Given the description of an element on the screen output the (x, y) to click on. 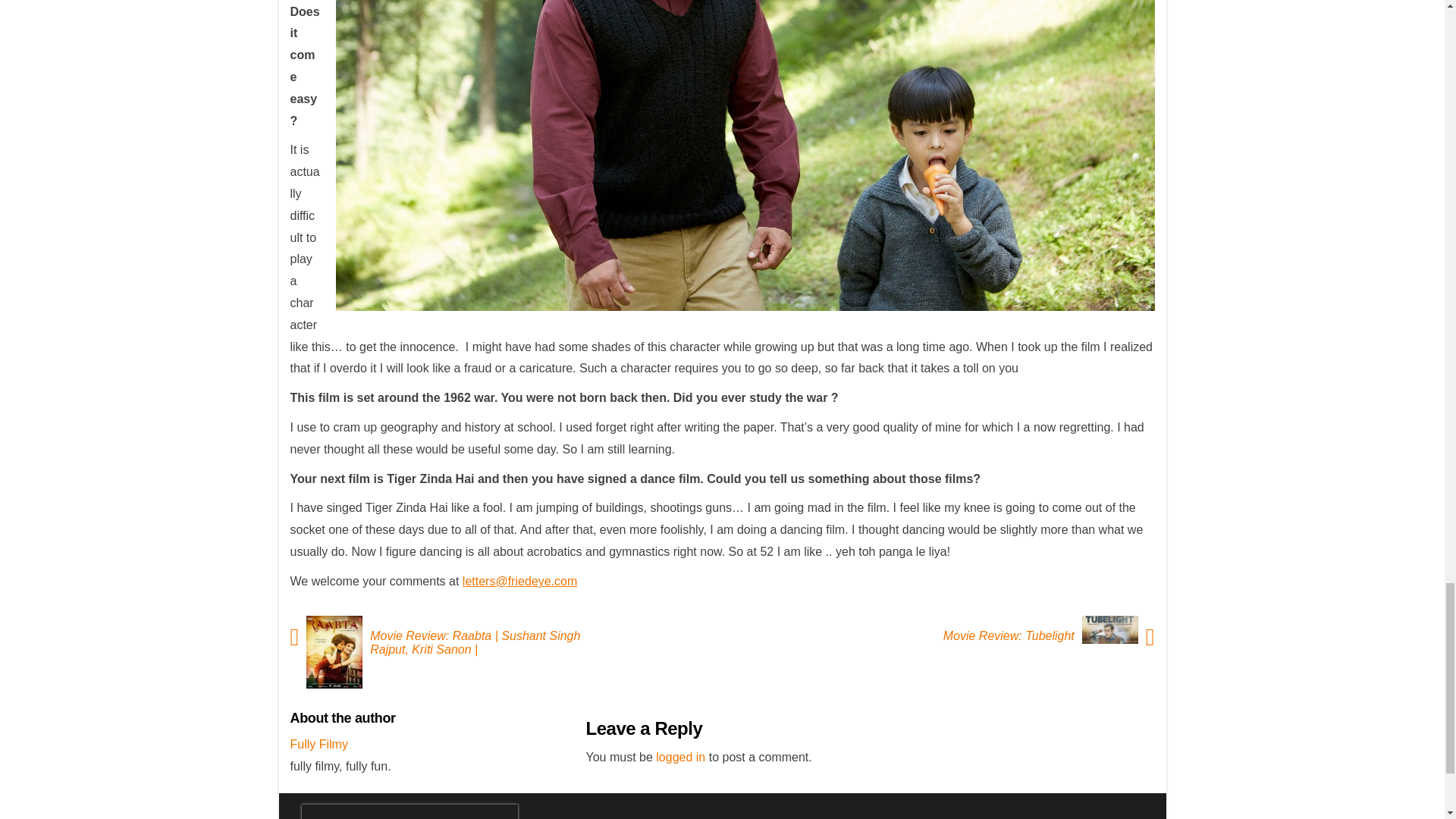
Fully Filmy (318, 744)
Movie Review: Tubelight (1005, 635)
logged in (680, 757)
